Given the description of an element on the screen output the (x, y) to click on. 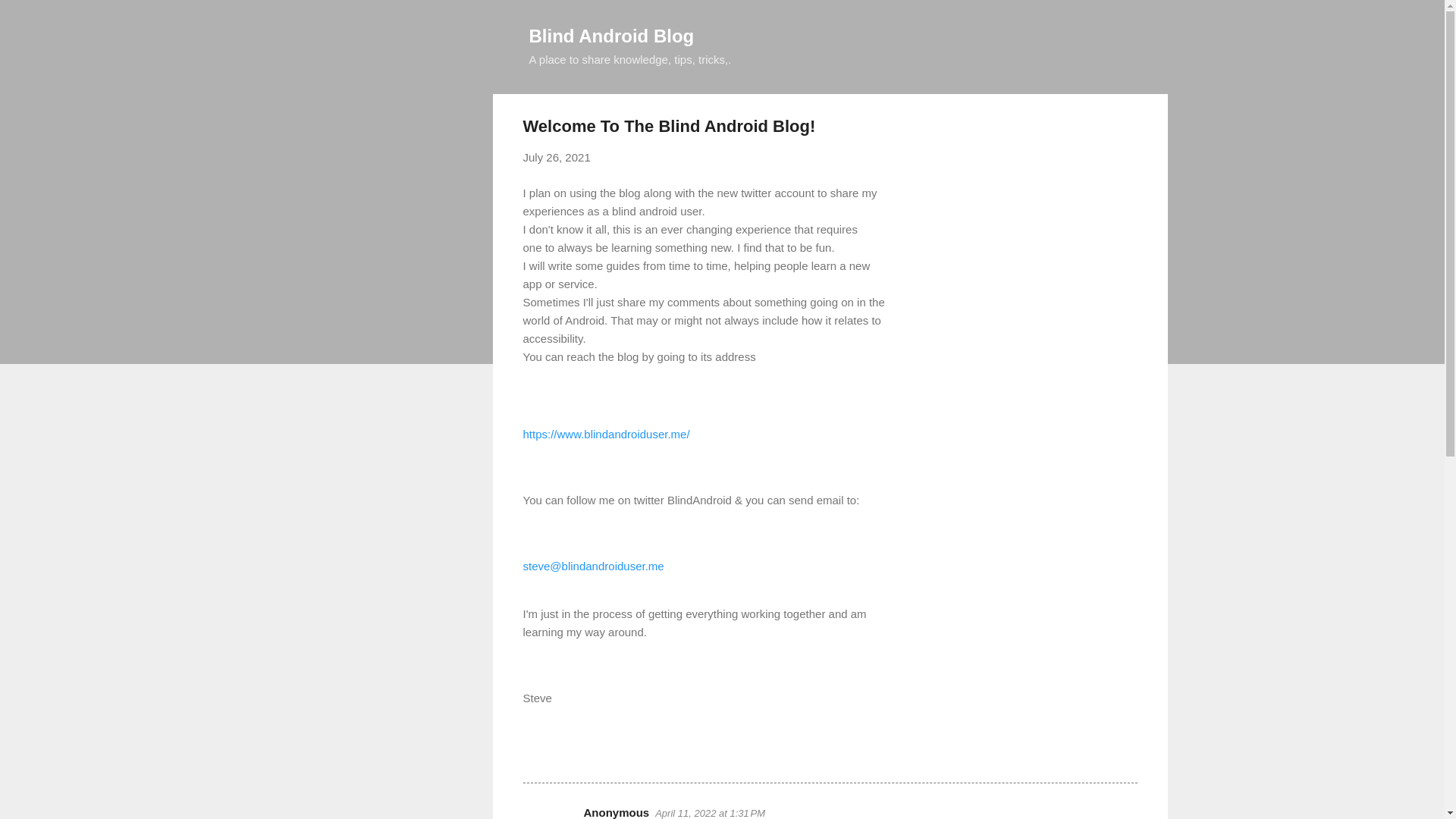
Search (29, 18)
permanent link (556, 156)
July 26, 2021 (556, 156)
Blind Android Blog (611, 35)
